Given the description of an element on the screen output the (x, y) to click on. 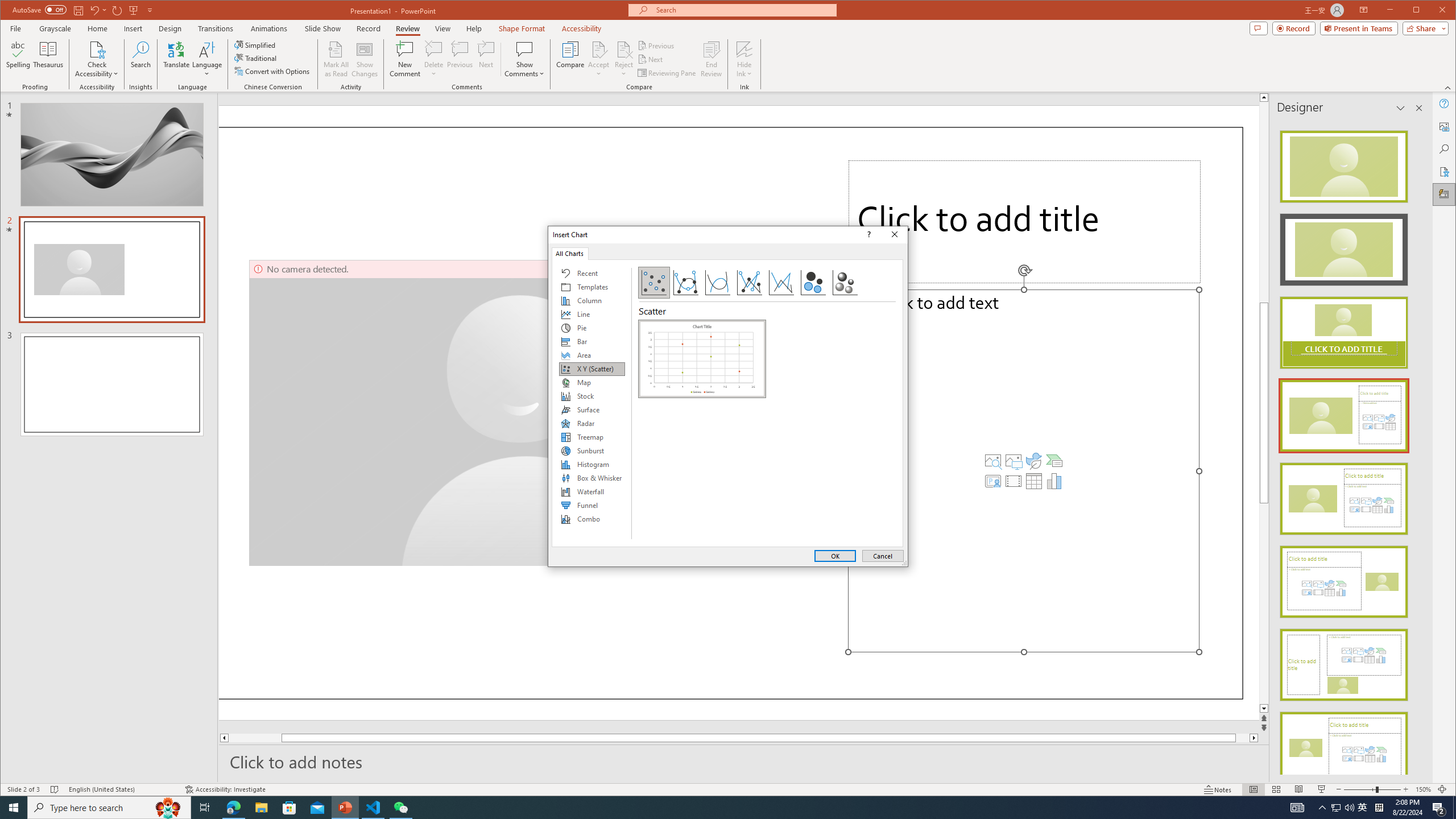
Insert Video (1013, 480)
Accessibility Checker Accessibility: Investigate (225, 789)
3-D Bubble (844, 282)
Convert with Options... (272, 70)
Page down (1335, 807)
Translate (1263, 603)
Thesaurus... (175, 59)
Waterfall (48, 59)
